Given the description of an element on the screen output the (x, y) to click on. 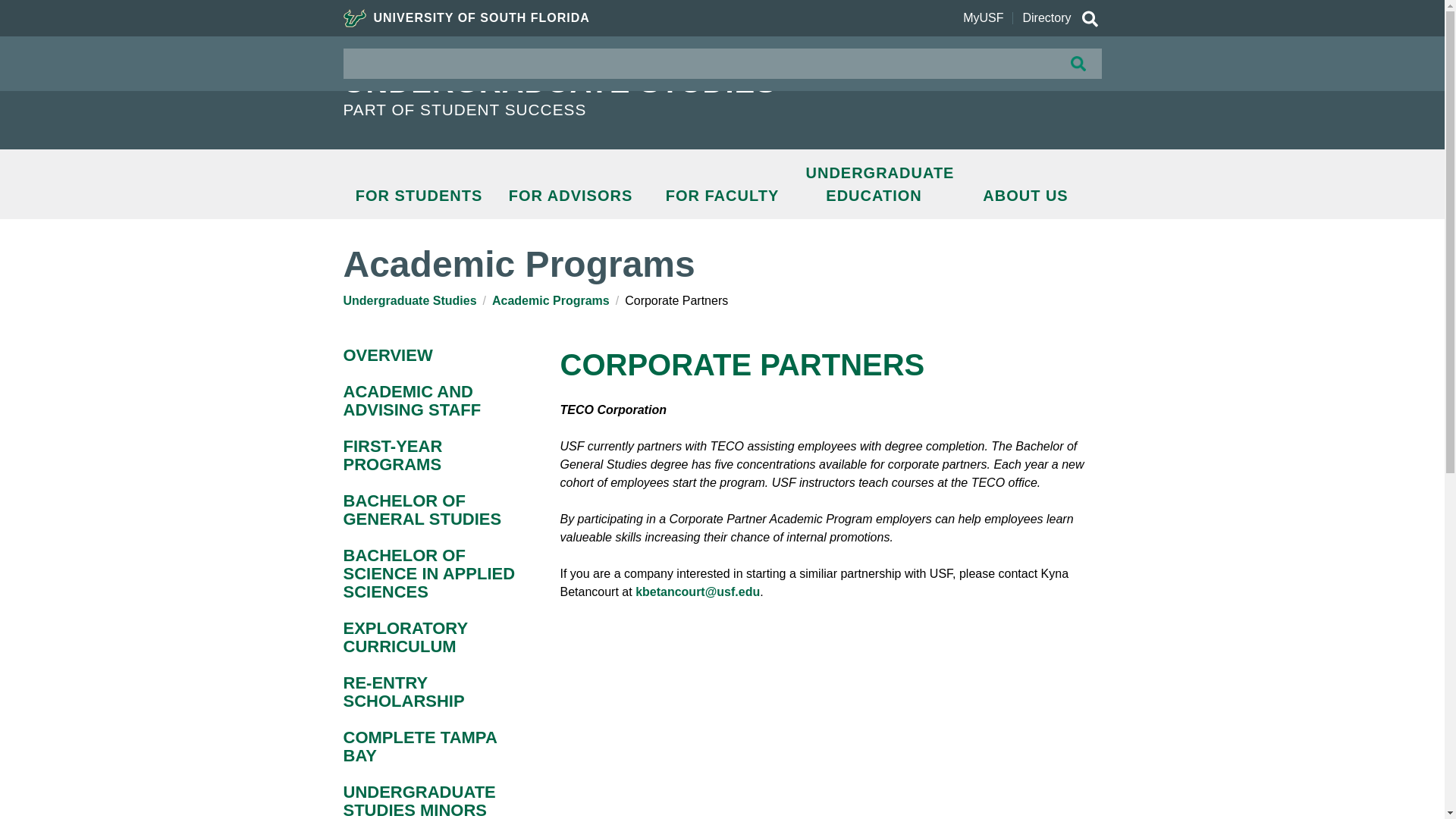
UNIVERSITY OF SOUTH FLORIDA (465, 18)
EXPLORATORY CURRICULUM (432, 637)
UNDERGRADUATE STUDIES MINORS (432, 800)
RE-ENTRY SCHOLARSHIP (432, 692)
COMPLETE TAMPA BAY (432, 746)
UNDERGRADUATE EDUCATION (873, 184)
ABOUT US (1024, 195)
ACADEMIC AND ADVISING STAFF (432, 401)
UNDERGRADUATE STUDIES (607, 81)
Directory (1046, 18)
OVERVIEW (432, 355)
Undergraduate Studies (409, 300)
GIVE NOW (1039, 69)
Academic Programs (551, 300)
Osher and Crankstart Re-entry Programs (432, 692)
